Given the description of an element on the screen output the (x, y) to click on. 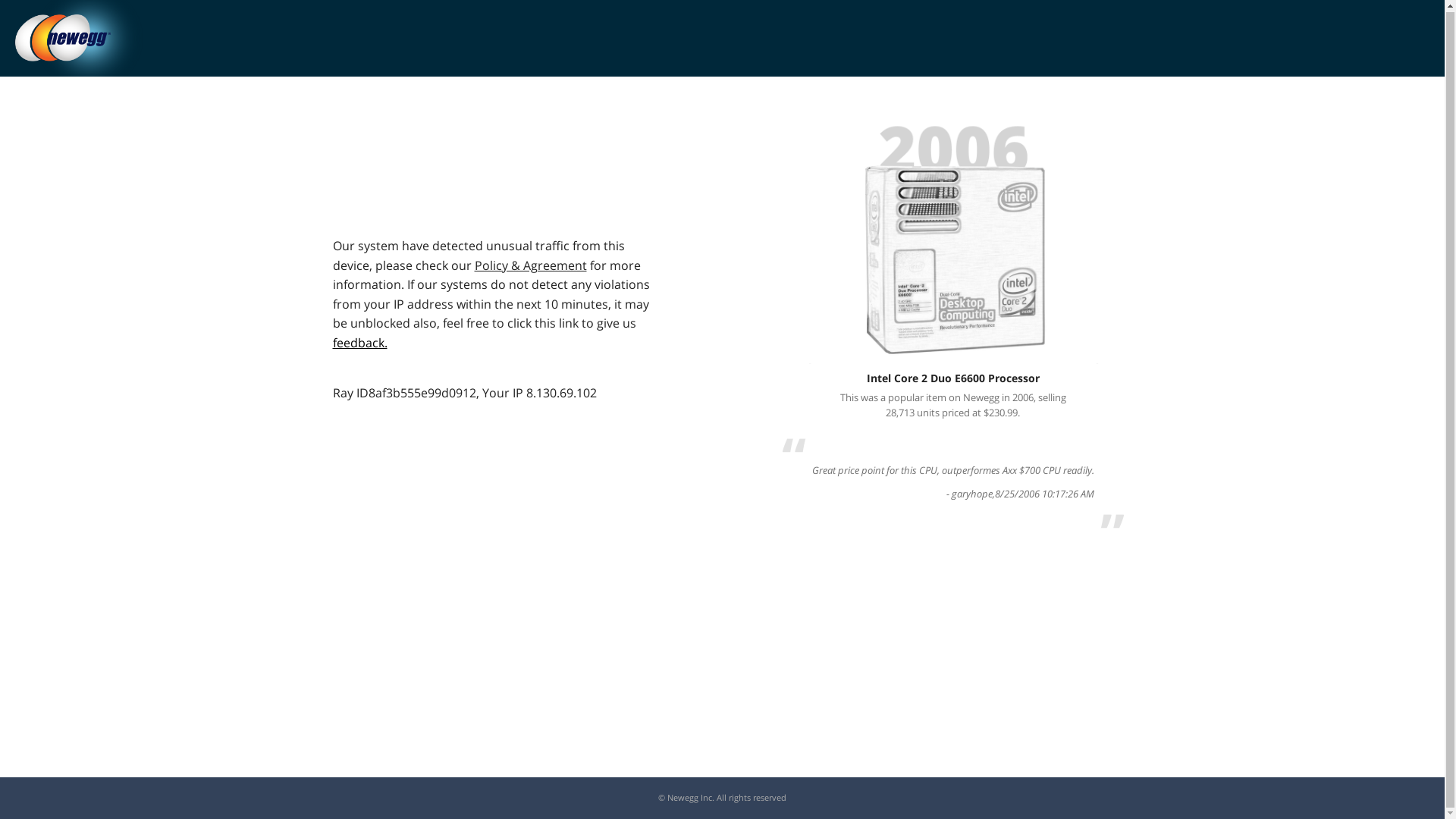
feedback. (359, 342)
feedback (359, 342)
